Given the description of an element on the screen output the (x, y) to click on. 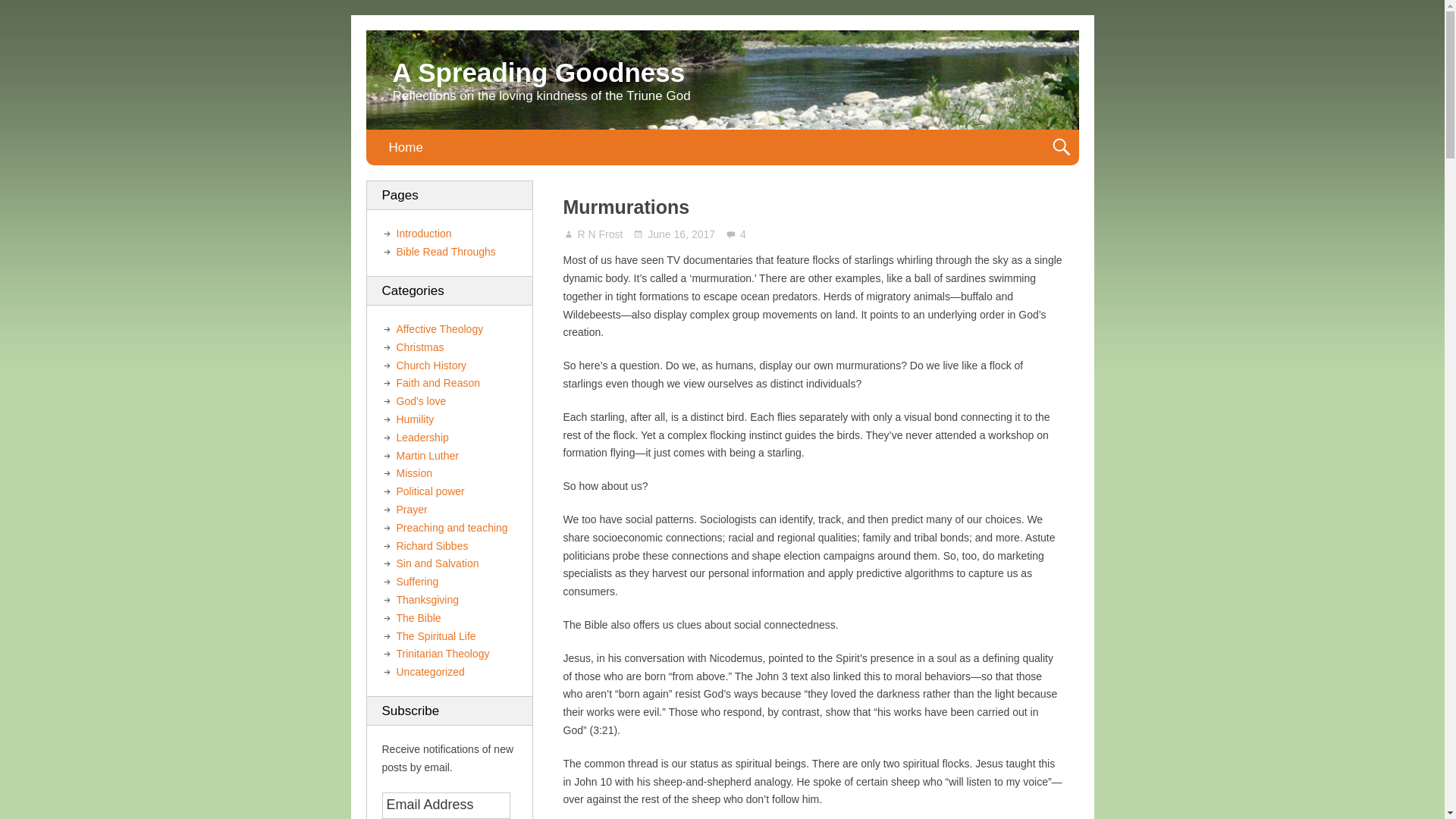
Mission (413, 472)
Faith and Reason (438, 382)
Prayer (411, 509)
Home (405, 147)
Thanksgiving (427, 599)
Martin Luther (427, 455)
Introduction (423, 233)
Preaching and teaching (451, 527)
Uncategorized (430, 671)
A Spreading Goodness (539, 71)
4 (735, 235)
The Spiritual Life (436, 635)
Posts by R N Frost (600, 234)
Sin and Salvation (437, 563)
God's love (420, 400)
